Given the description of an element on the screen output the (x, y) to click on. 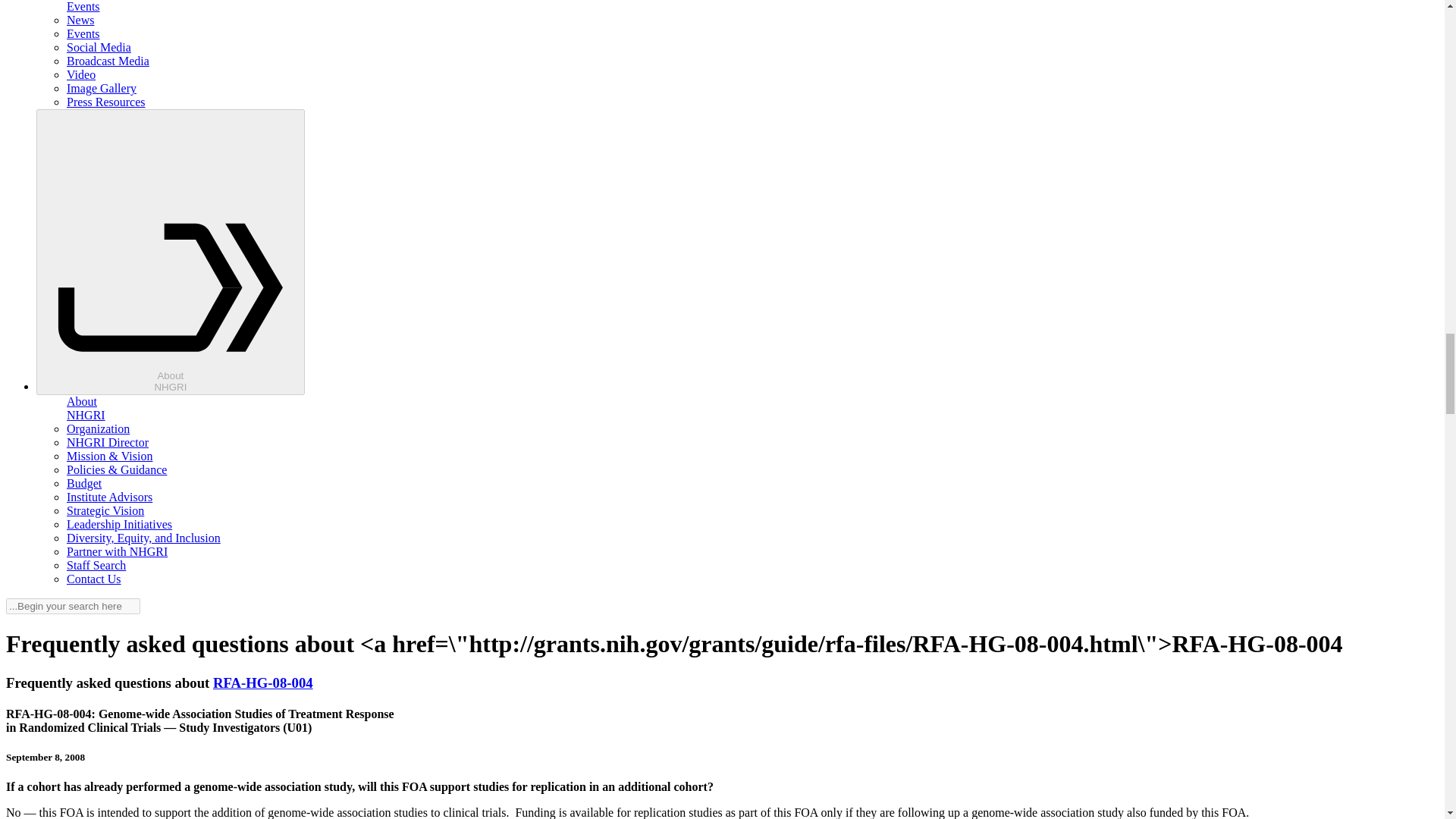
enter the terms you wish to search for (72, 606)
